Given the description of an element on the screen output the (x, y) to click on. 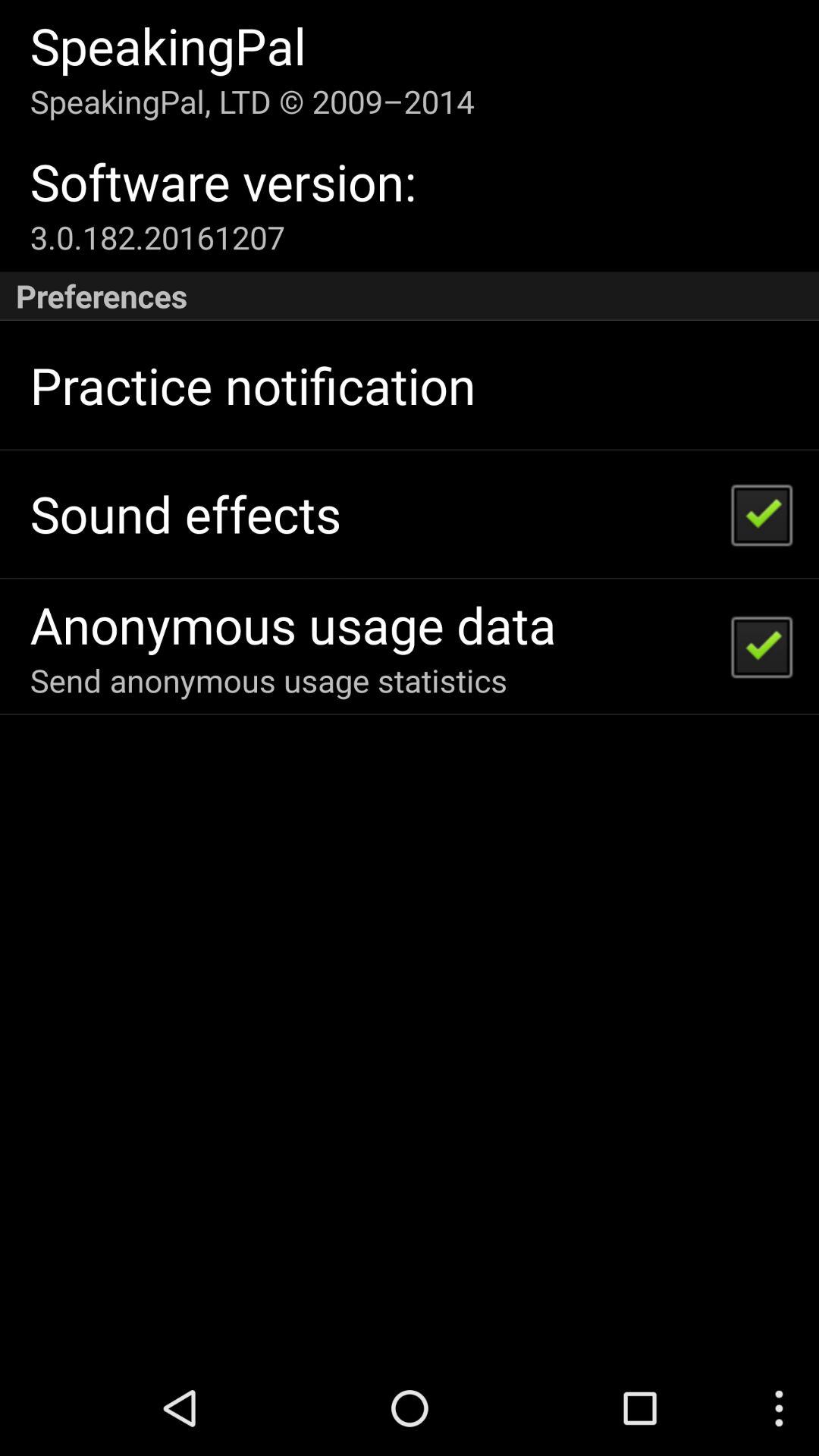
launch the icon above the sound effects (253, 385)
